Given the description of an element on the screen output the (x, y) to click on. 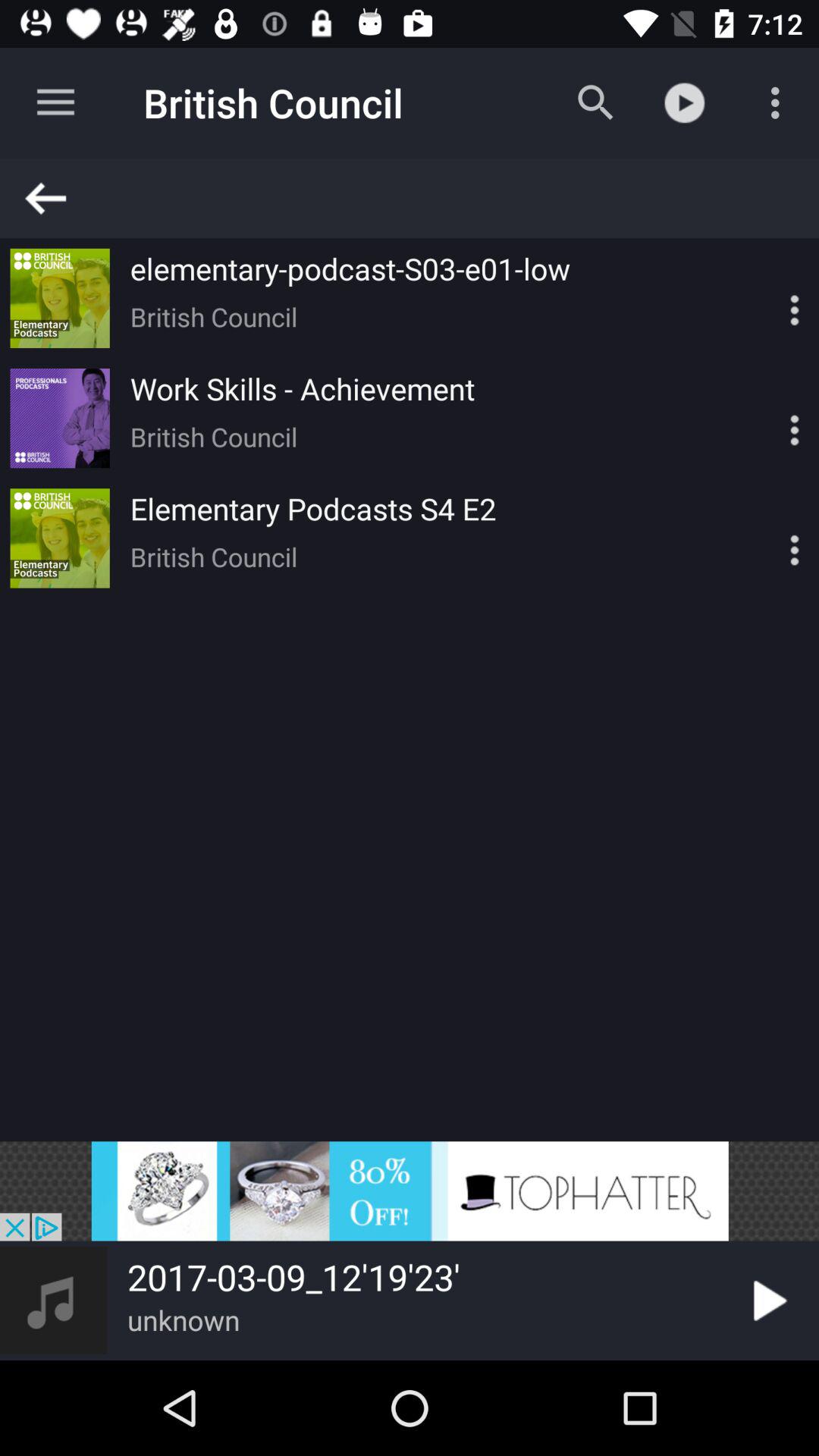
display options for element (768, 538)
